Given the description of an element on the screen output the (x, y) to click on. 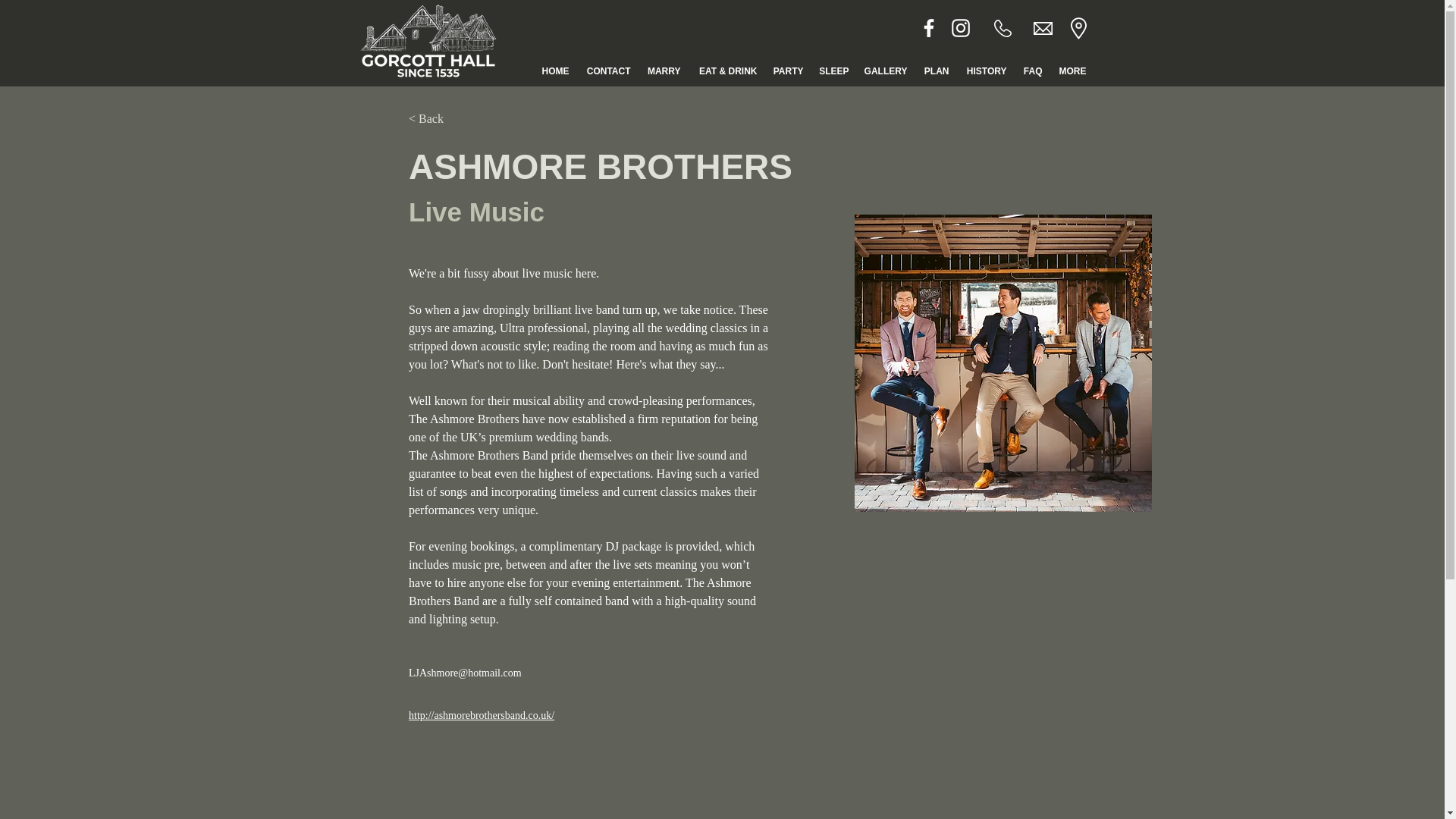
MARRY (663, 71)
HISTORY (985, 71)
HOME (554, 71)
Ashmore Band.jpg (1002, 362)
GALLERY (886, 71)
SLEEP (833, 71)
PLAN (935, 71)
FAQ (1031, 71)
CONTACT (606, 71)
PARTY (787, 71)
